Given the description of an element on the screen output the (x, y) to click on. 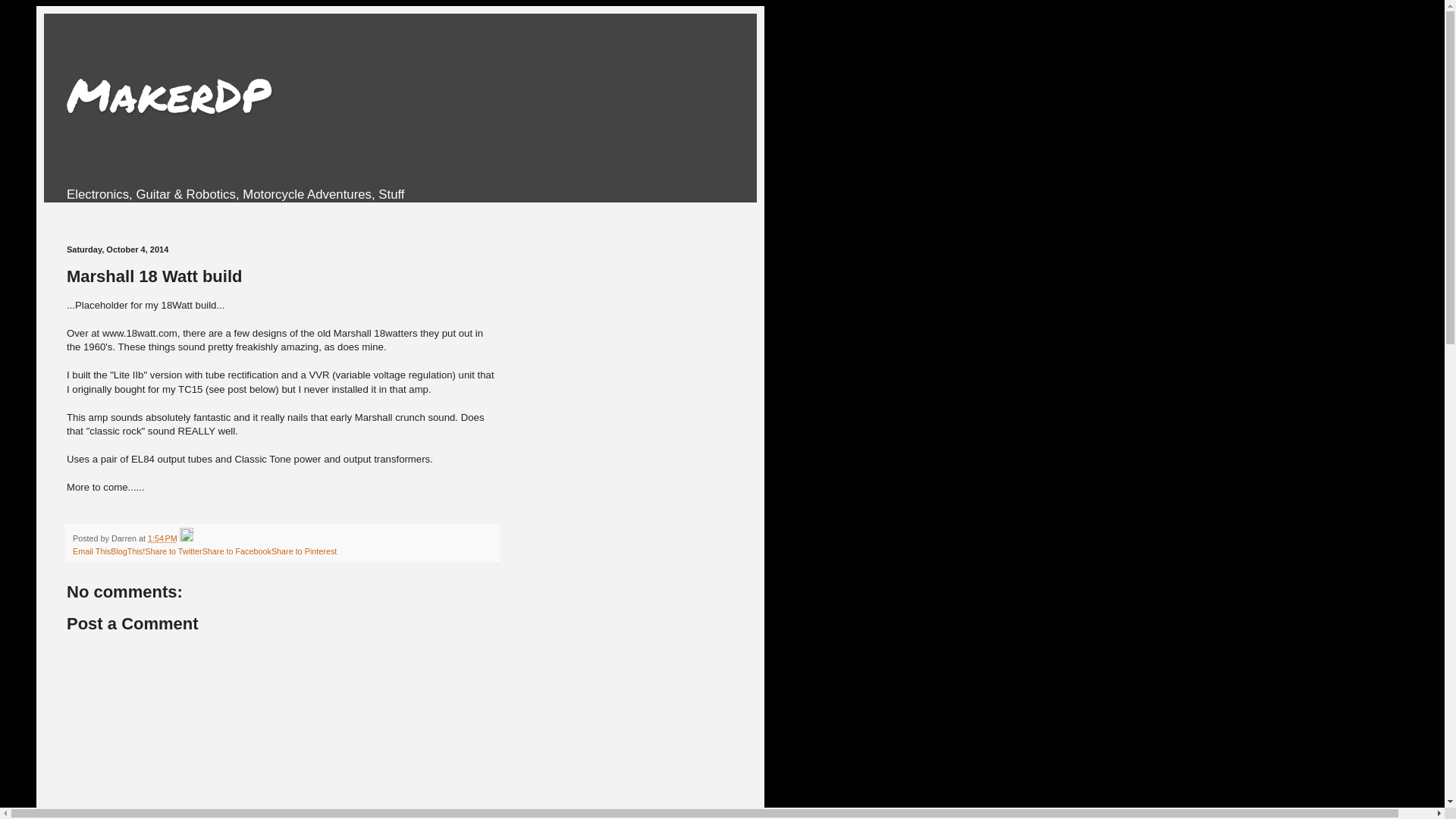
Email This Element type: text (91, 550)
Edit Post Element type: hover (186, 537)
MakerDP Element type: text (167, 93)
Share to Twitter Element type: text (172, 550)
Share to Pinterest Element type: text (303, 550)
BlogThis! Element type: text (127, 550)
Share to Facebook Element type: text (236, 550)
